Given the description of an element on the screen output the (x, y) to click on. 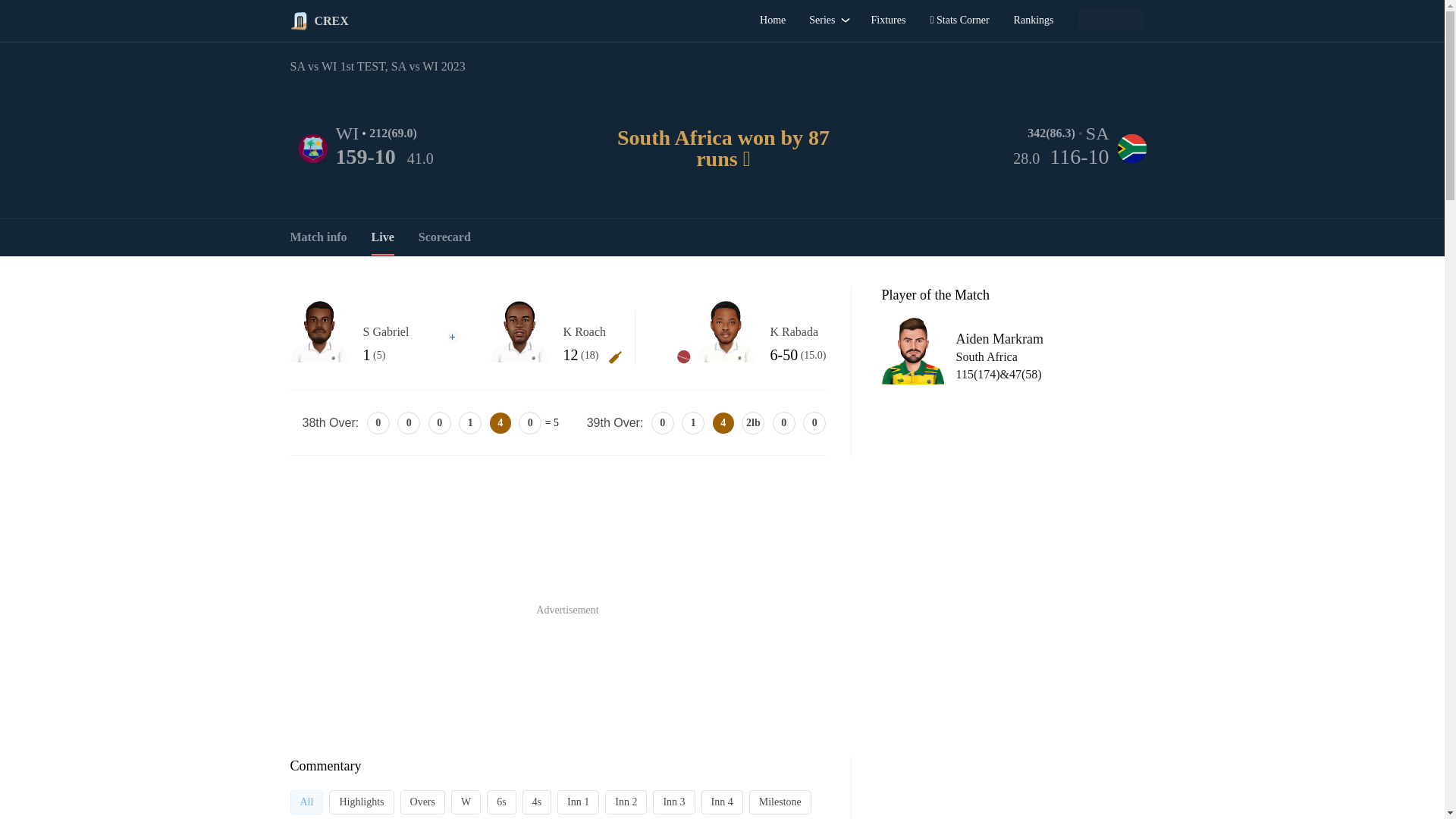
CREX (298, 21)
Scorecard (444, 236)
Match info (317, 236)
Fixtures (888, 20)
K Rabada (797, 331)
K Rabada (725, 328)
K Roach (593, 331)
Player Rankings (1033, 20)
Home (772, 20)
Live (382, 236)
